Given the description of an element on the screen output the (x, y) to click on. 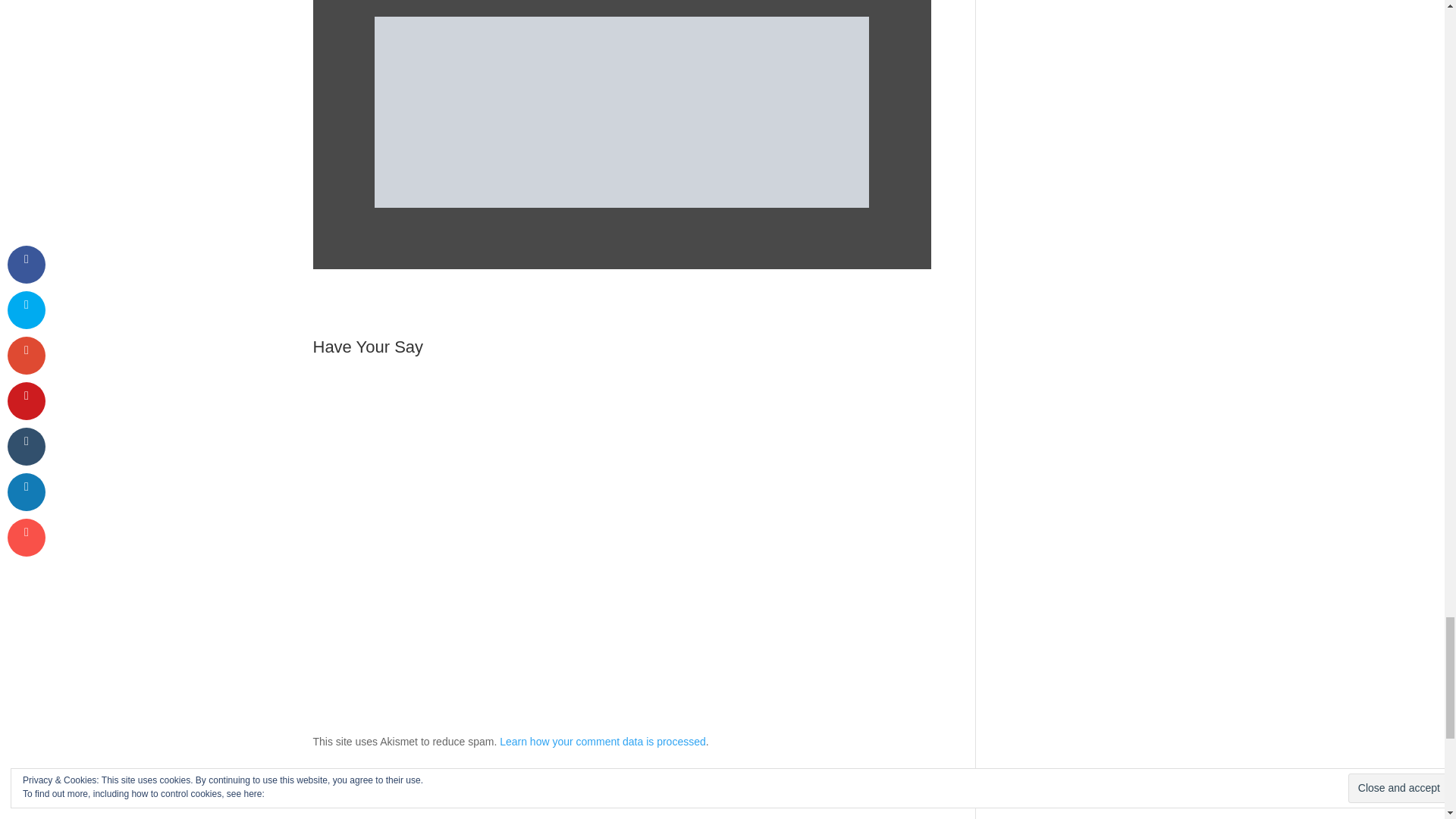
Start reading Loreless! (621, 112)
Learn how your comment data is processed (602, 741)
